Given the description of an element on the screen output the (x, y) to click on. 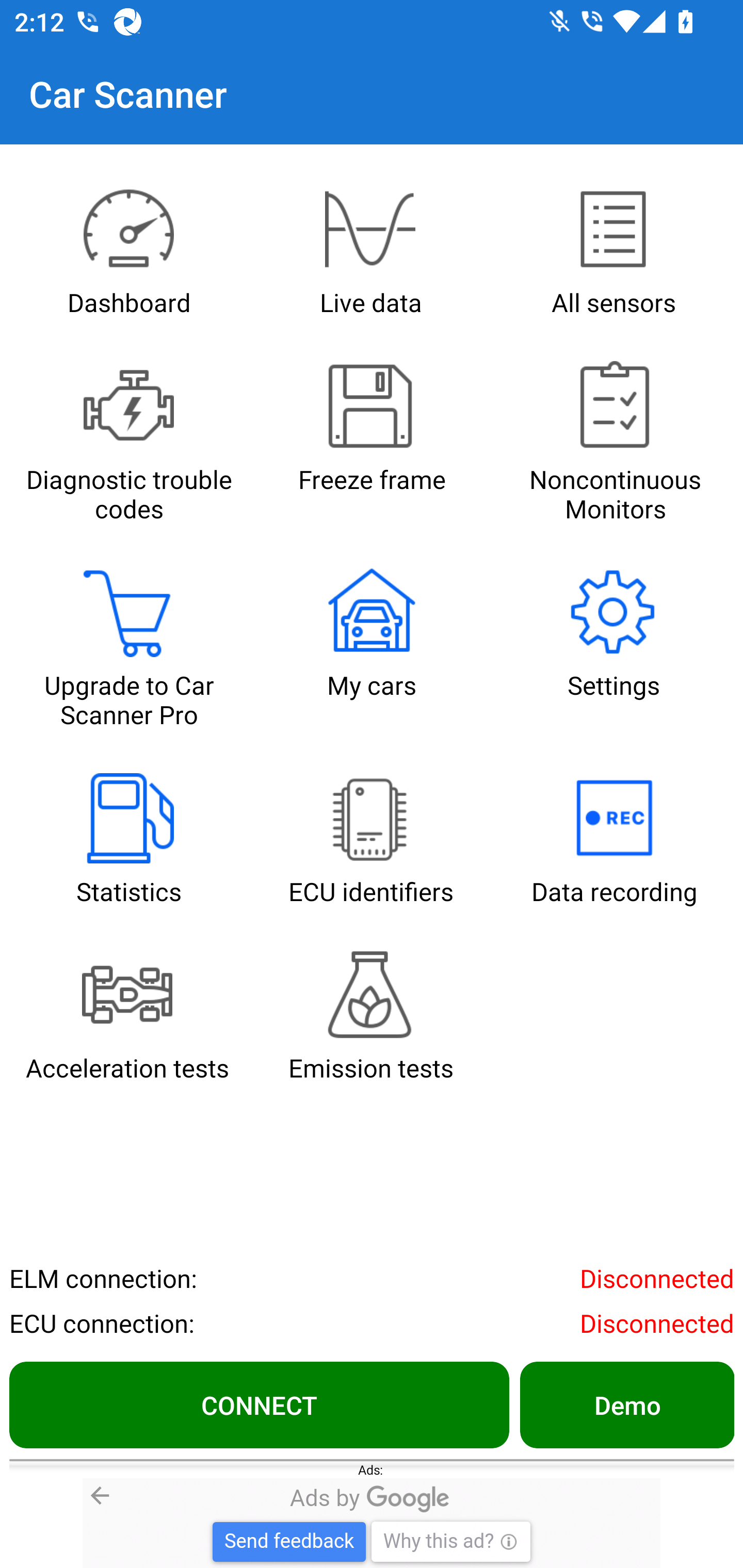
CONNECT (258, 1404)
Demo (627, 1404)
